Given the description of an element on the screen output the (x, y) to click on. 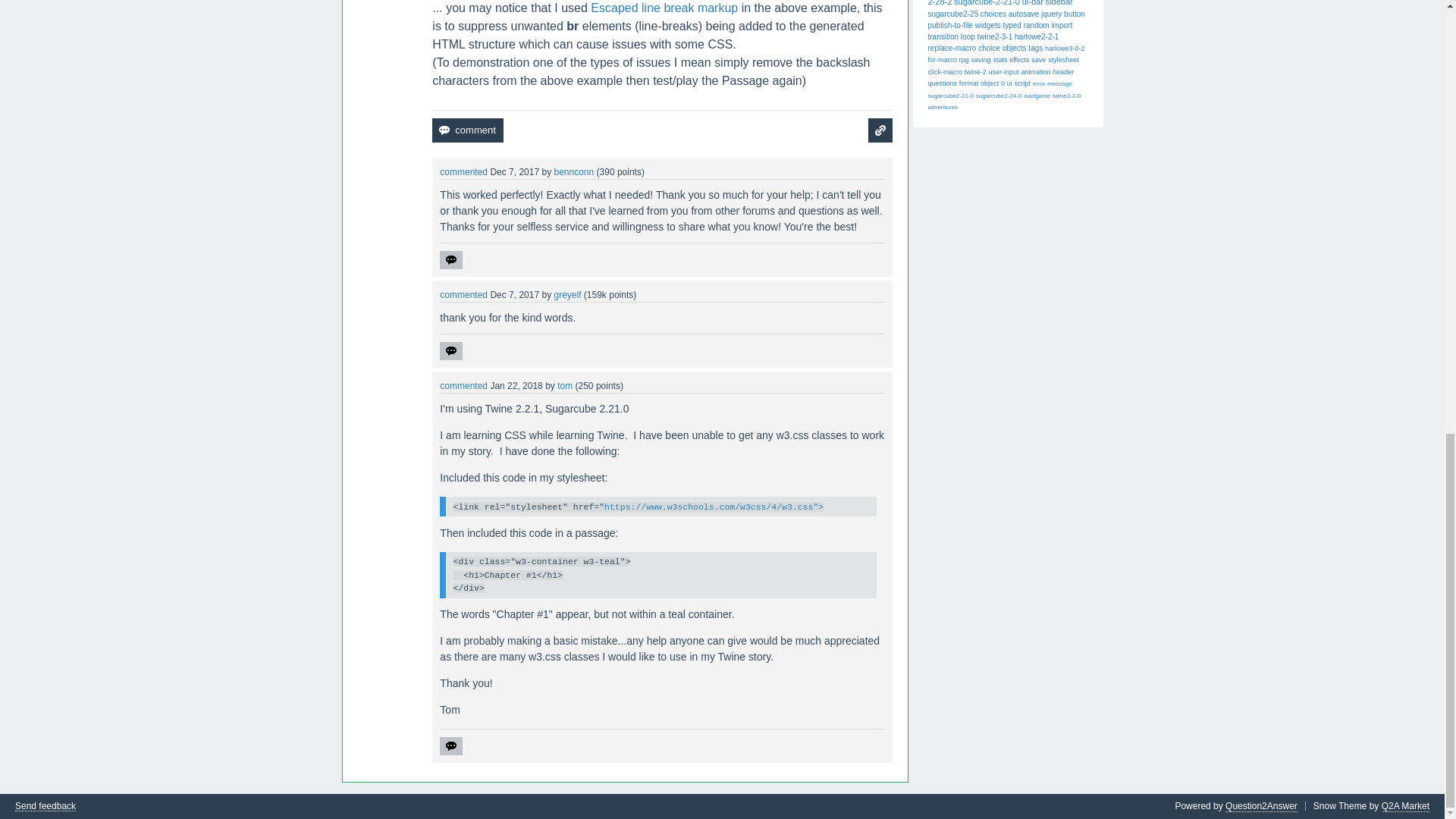
reply (451, 351)
Ask a new question relating to this answer (879, 129)
Escaped line break markup (664, 7)
reply (451, 259)
commented (463, 172)
comment (467, 129)
ask related question (879, 129)
ask related question (879, 129)
Reply to this comment (451, 351)
Reply to this comment (451, 746)
bennconn (573, 172)
comment (467, 129)
reply (451, 746)
Add a comment on this answer (467, 129)
Reply to this comment (451, 259)
